Given the description of an element on the screen output the (x, y) to click on. 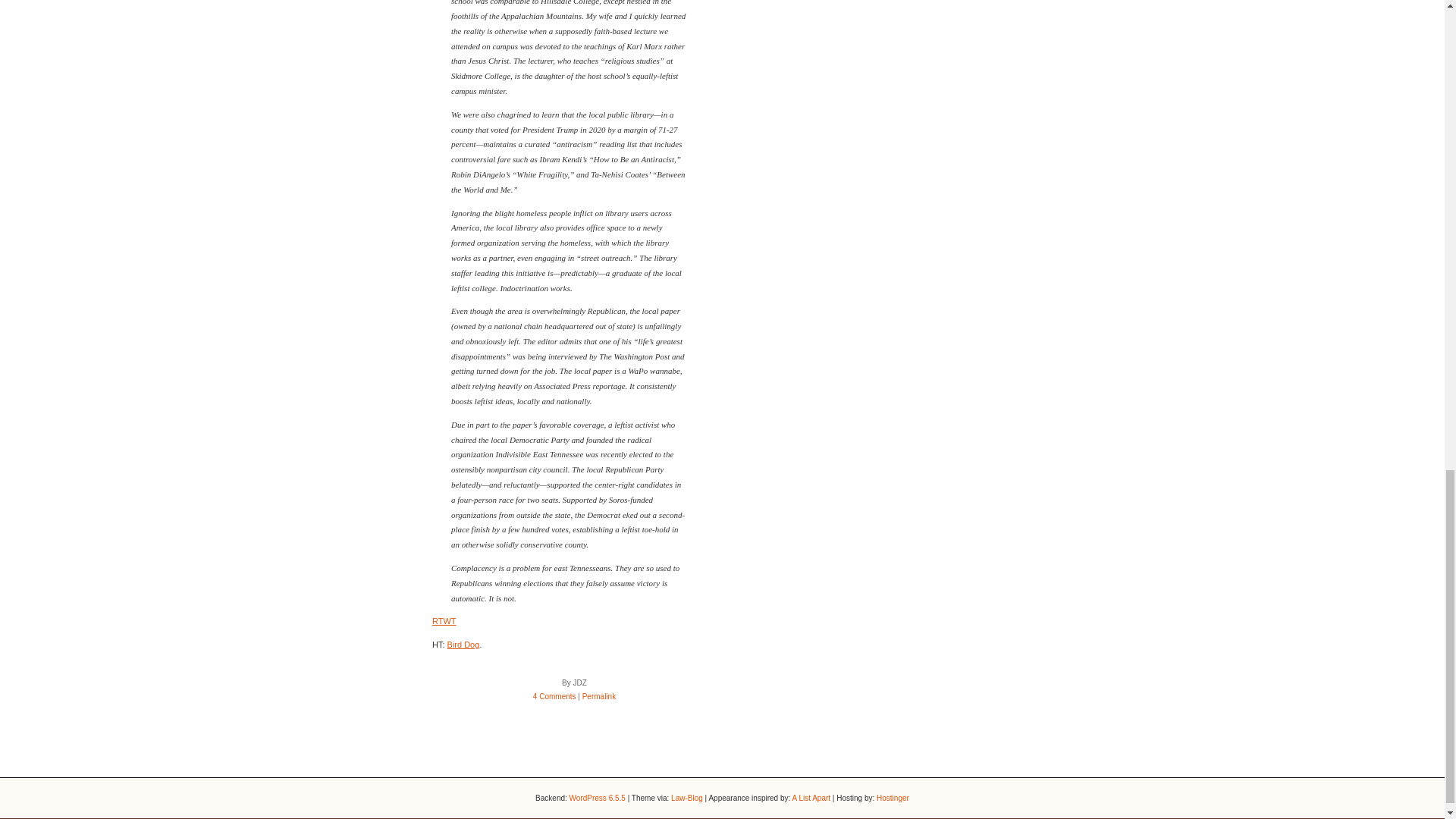
A List Apart (810, 797)
Bird Dog (463, 644)
Law-Blog (687, 797)
4 Comments (554, 696)
WordPress 6.5.5 (597, 797)
Permalink (598, 696)
RTWT (444, 620)
Hostinger (892, 797)
